Given the description of an element on the screen output the (x, y) to click on. 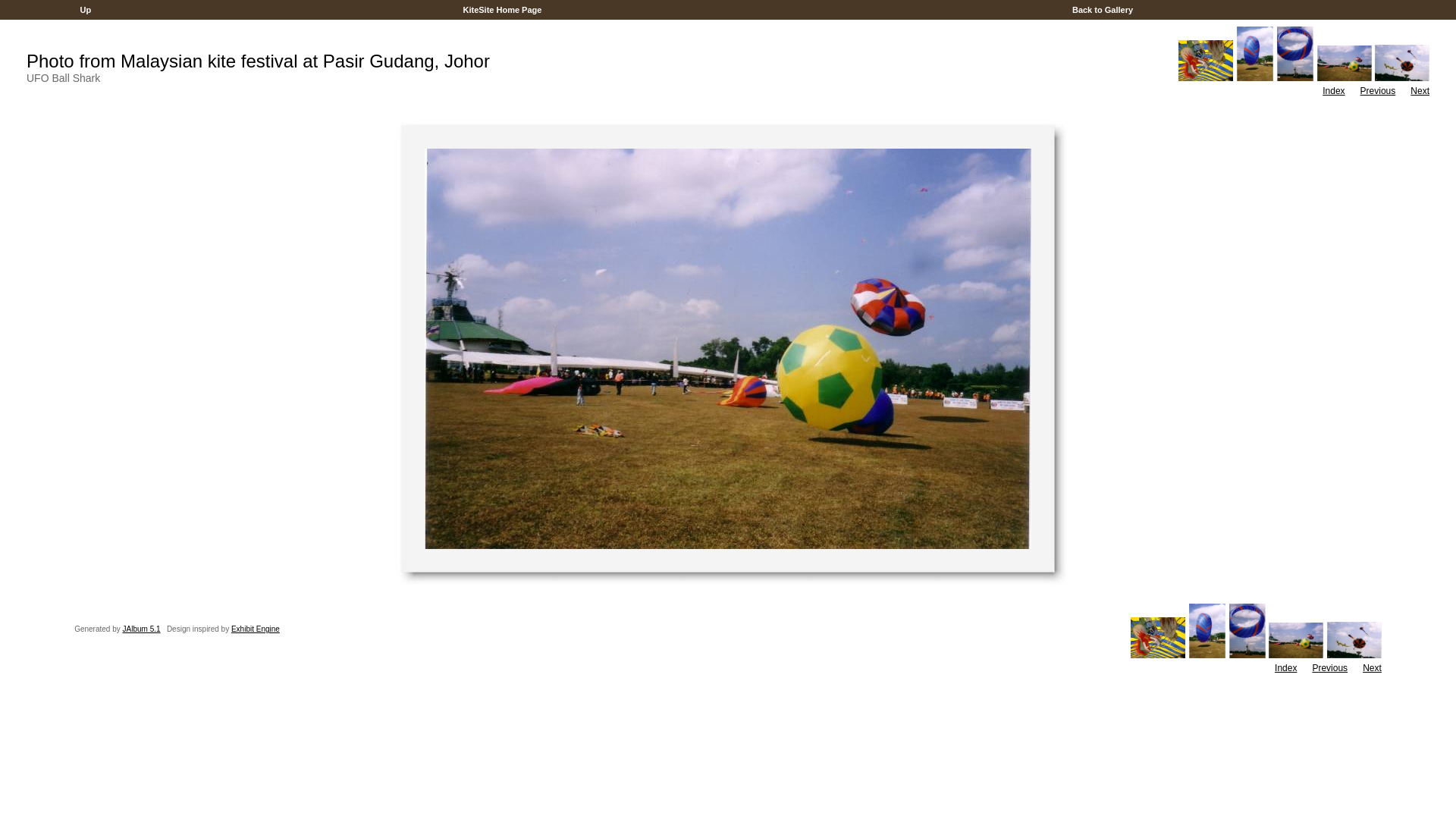
     Element type: text (1410, 9)
Index Element type: text (1285, 667)
  Back to Gallery   Element type: text (1102, 9)
Exhibit Engine Element type: text (255, 628)
Previous Element type: text (1378, 90)
Next Element type: text (1419, 90)
Index Element type: text (1333, 90)
  Up   Element type: text (85, 9)
Next Element type: text (1371, 667)
  KiteSite Home Page   Element type: text (502, 9)
JAlbum 5.1 Element type: text (141, 628)
Previous Element type: text (1329, 667)
